Given the description of an element on the screen output the (x, y) to click on. 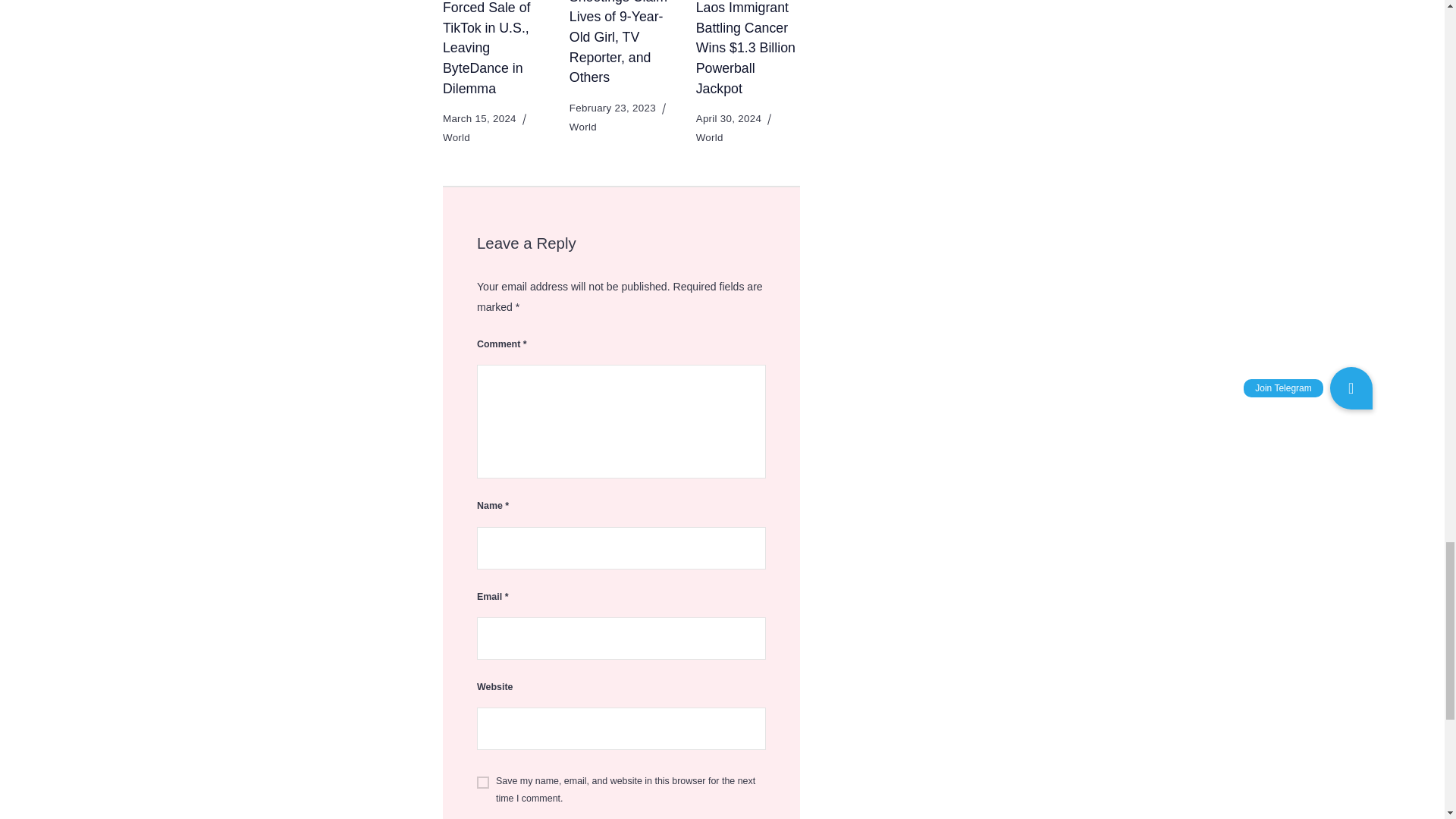
World (456, 137)
